Given the description of an element on the screen output the (x, y) to click on. 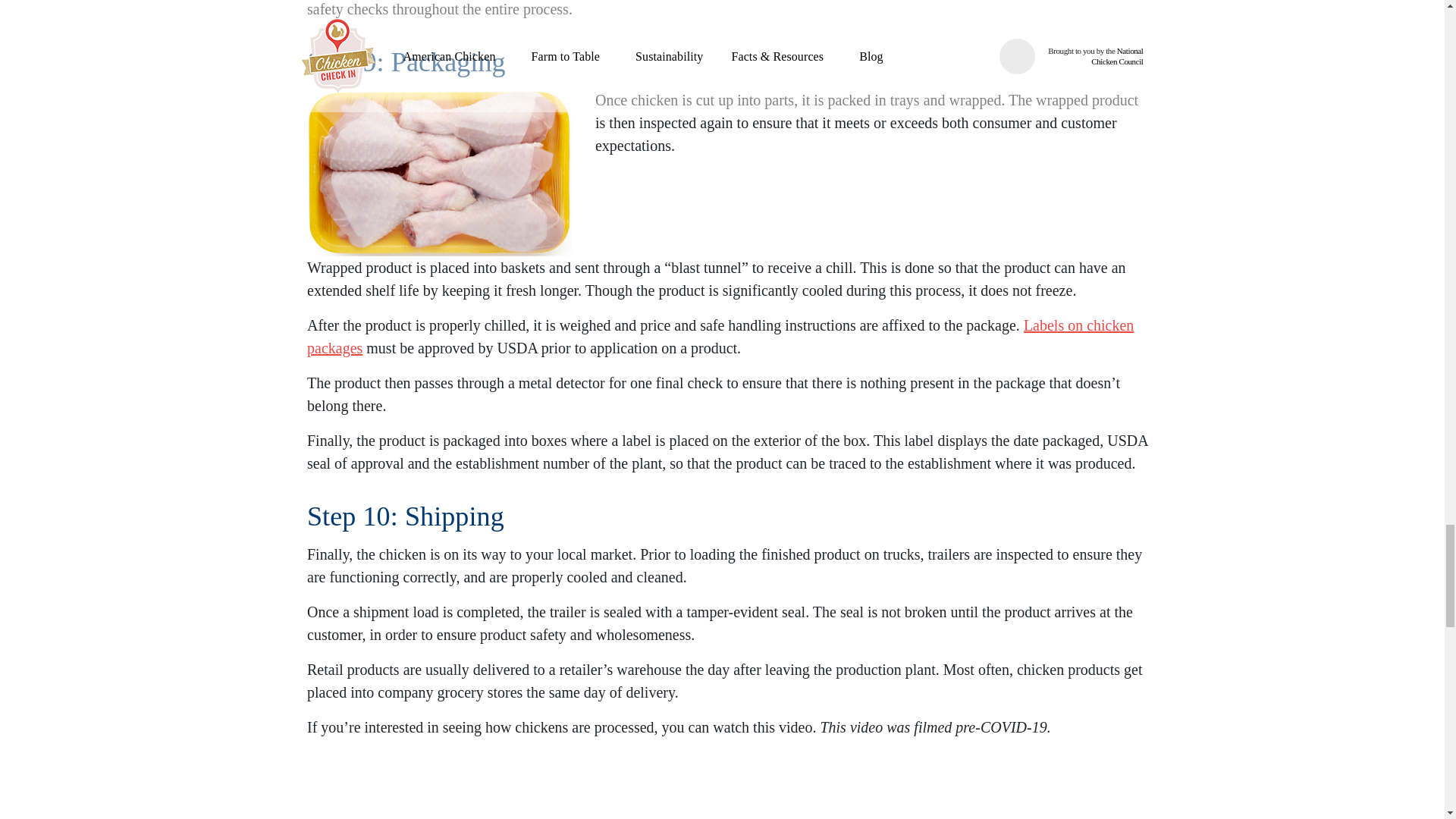
packaged-chicken (439, 172)
An Inside Look at U.S. Poultry Processing (727, 790)
